Given the description of an element on the screen output the (x, y) to click on. 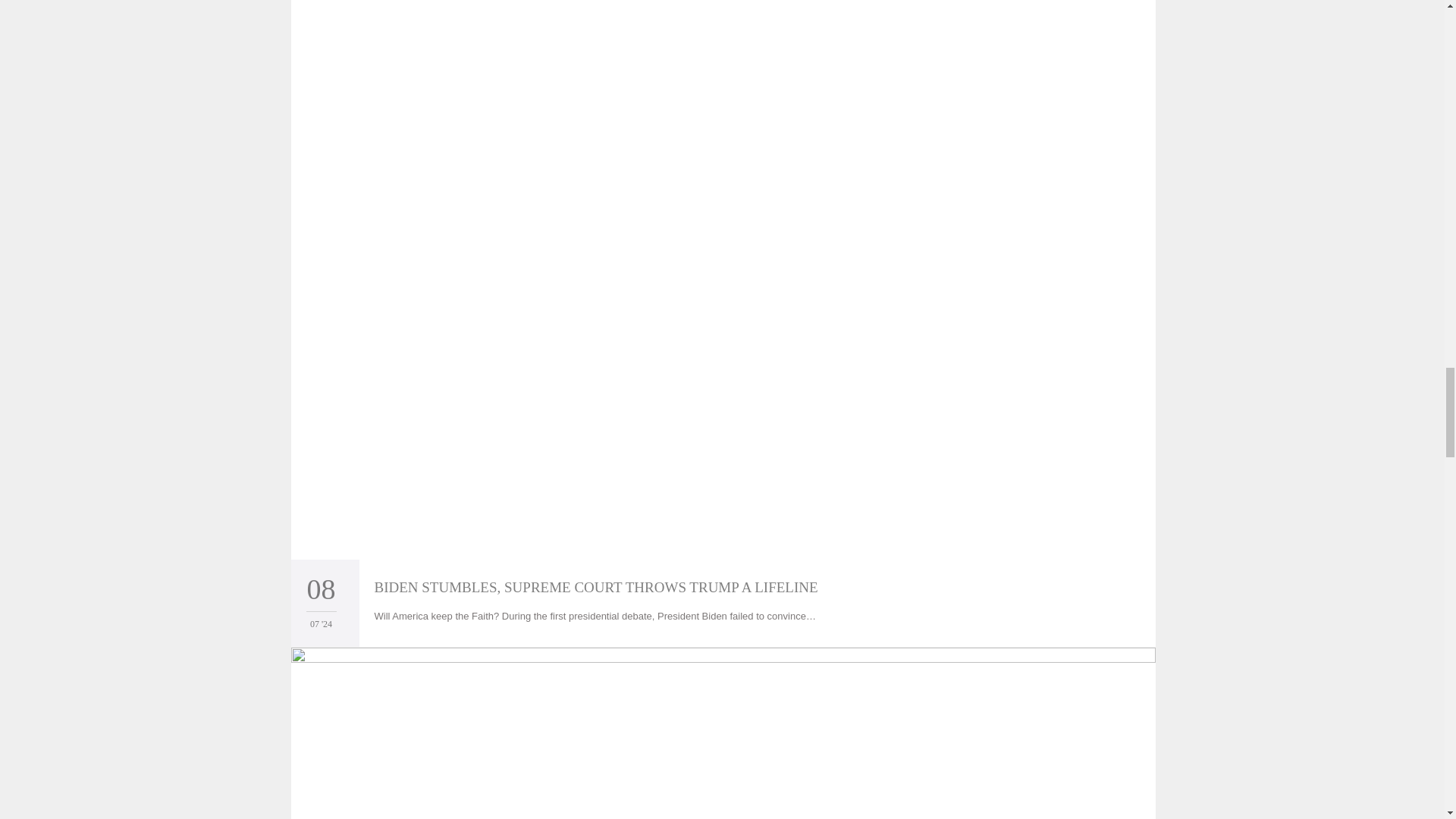
BIDEN STUMBLES, SUPREME COURT THROWS TRUMP A LIFELINE (596, 587)
BIDEN STUMBLES, SUPREME COURT THROWS TRUMP A LIFELINE (596, 587)
